Given the description of an element on the screen output the (x, y) to click on. 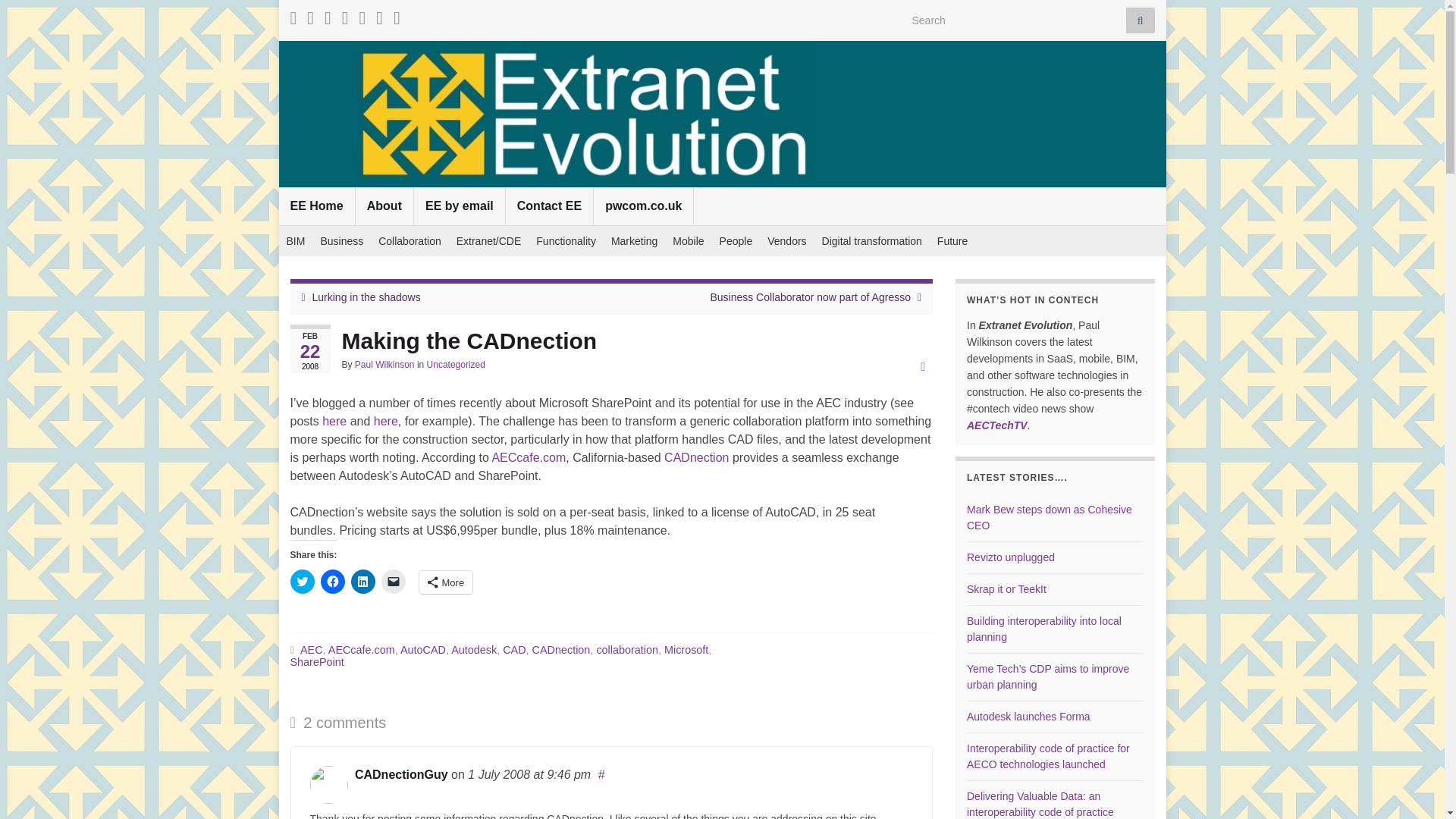
Mobile (688, 241)
People (735, 241)
Paul Wilkinson (384, 364)
Click to share on LinkedIn (362, 581)
here (385, 420)
Click to share on Facebook (331, 581)
EE Home (317, 206)
pwcom.co.uk Ltd (643, 206)
AECcafe.com (529, 457)
Lurking in the shadows (366, 297)
Business (342, 241)
EE by email (459, 206)
Click to email a link to a friend (392, 581)
Future (952, 241)
